Given the description of an element on the screen output the (x, y) to click on. 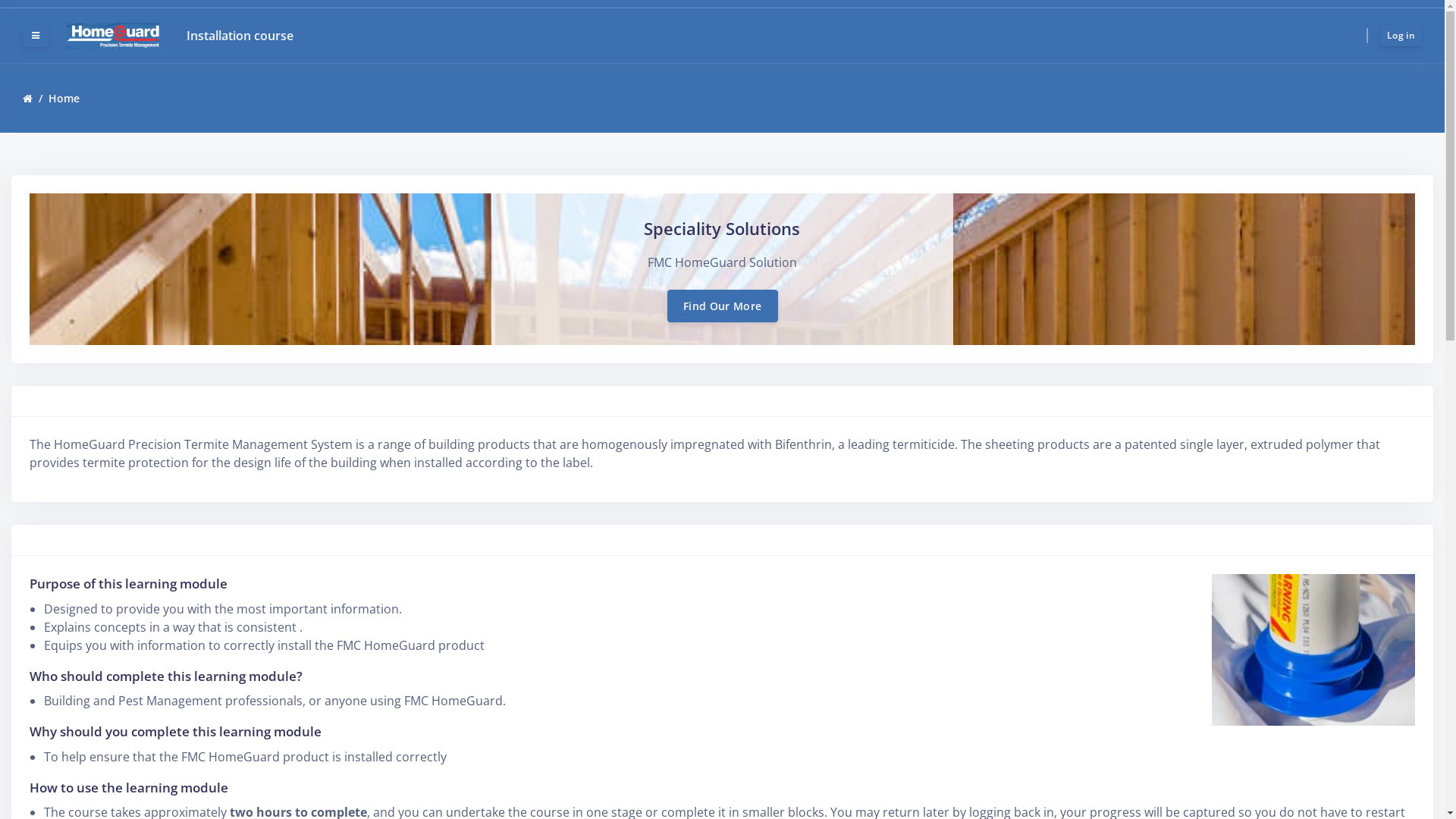
Find Our More Element type: text (722, 305)
Log in Element type: text (1400, 35)
Skip HomeGuard Element type: text (10, 174)
Home Element type: text (63, 98)
Installation course Element type: text (239, 35)
Side panel Element type: text (35, 35)
